Given the description of an element on the screen output the (x, y) to click on. 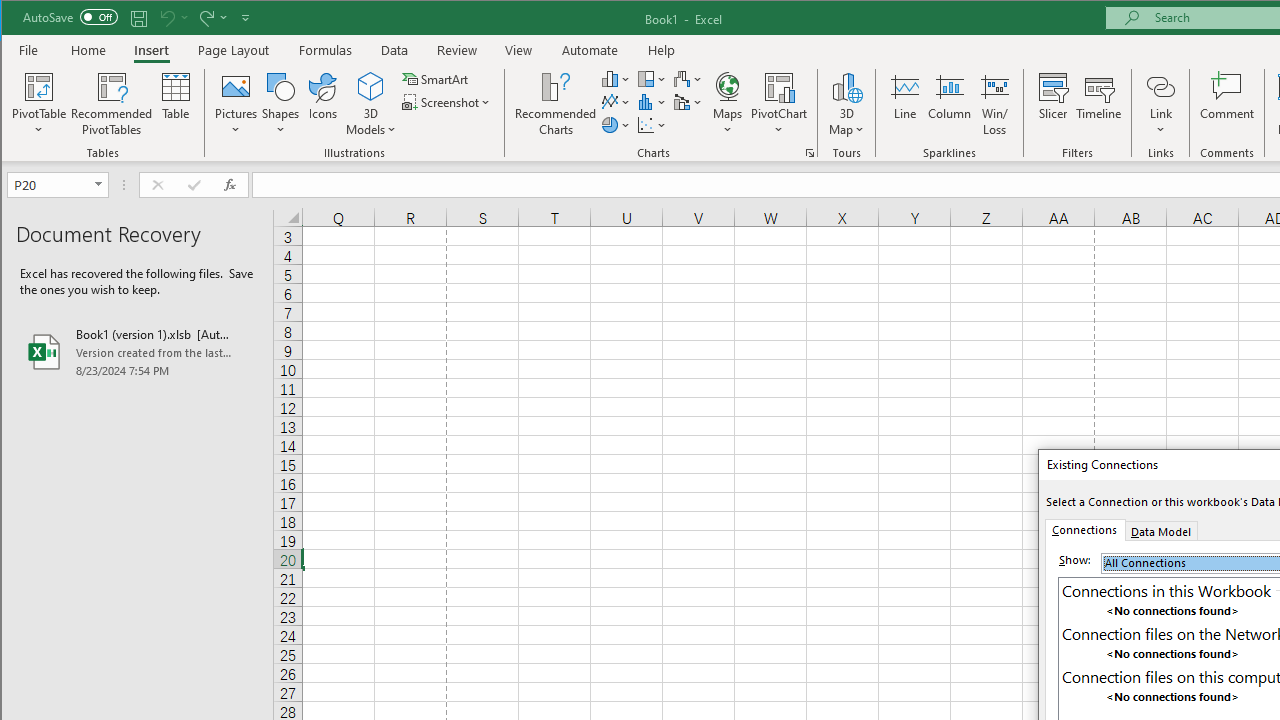
Insert Statistic Chart (652, 101)
Slicer... (1052, 104)
Insert Waterfall, Funnel, Stock, Surface, or Radar Chart (688, 78)
Win/Loss (995, 104)
Screenshot (447, 101)
Table (175, 104)
SmartArt... (436, 78)
Open (99, 184)
PivotTable (39, 104)
Help (661, 50)
Icons (323, 104)
Data Model (1160, 529)
View (518, 50)
Class: NetUIImage (1078, 697)
